Given the description of an element on the screen output the (x, y) to click on. 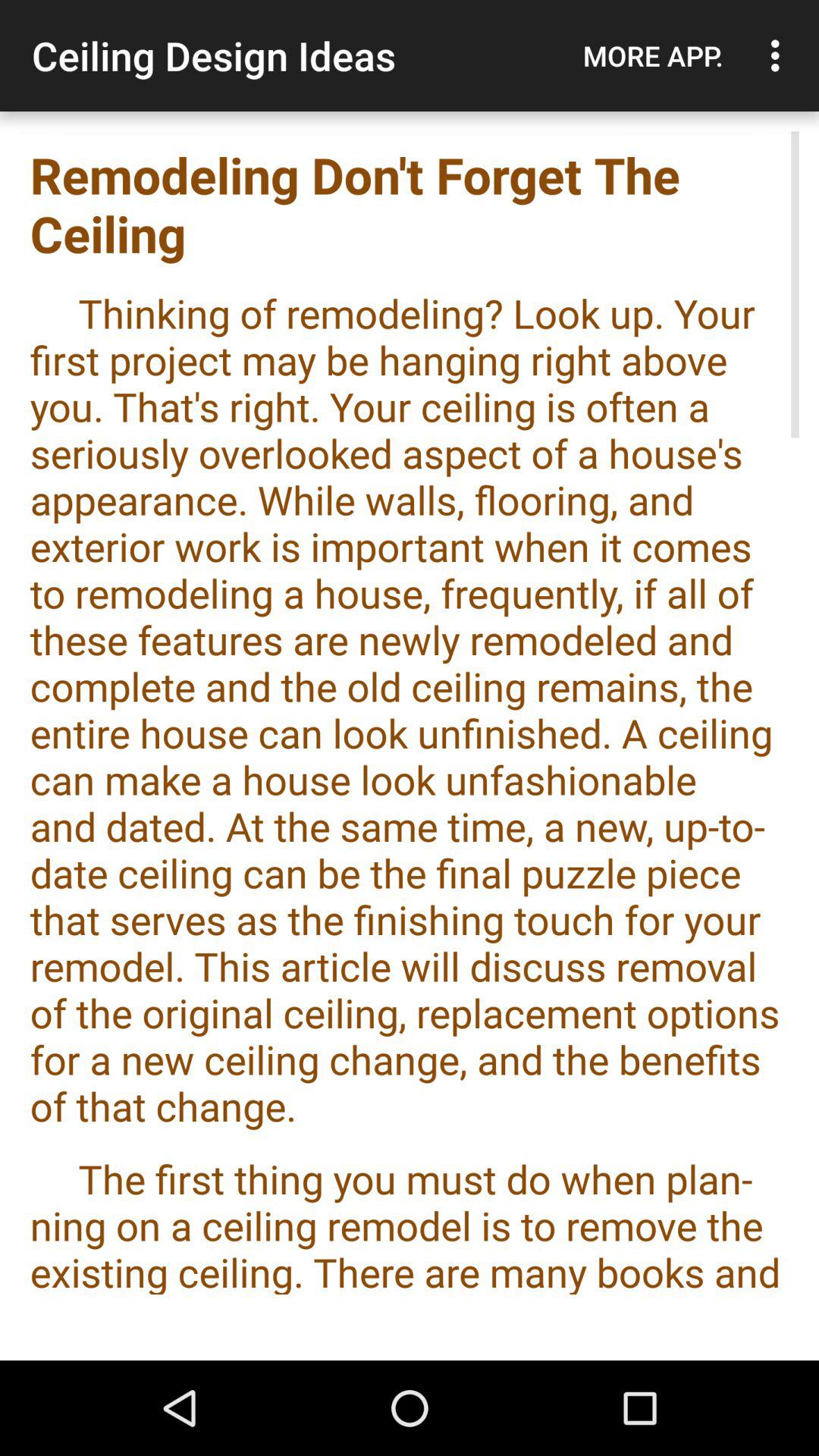
open the icon above the remodeling don t (653, 55)
